Given the description of an element on the screen output the (x, y) to click on. 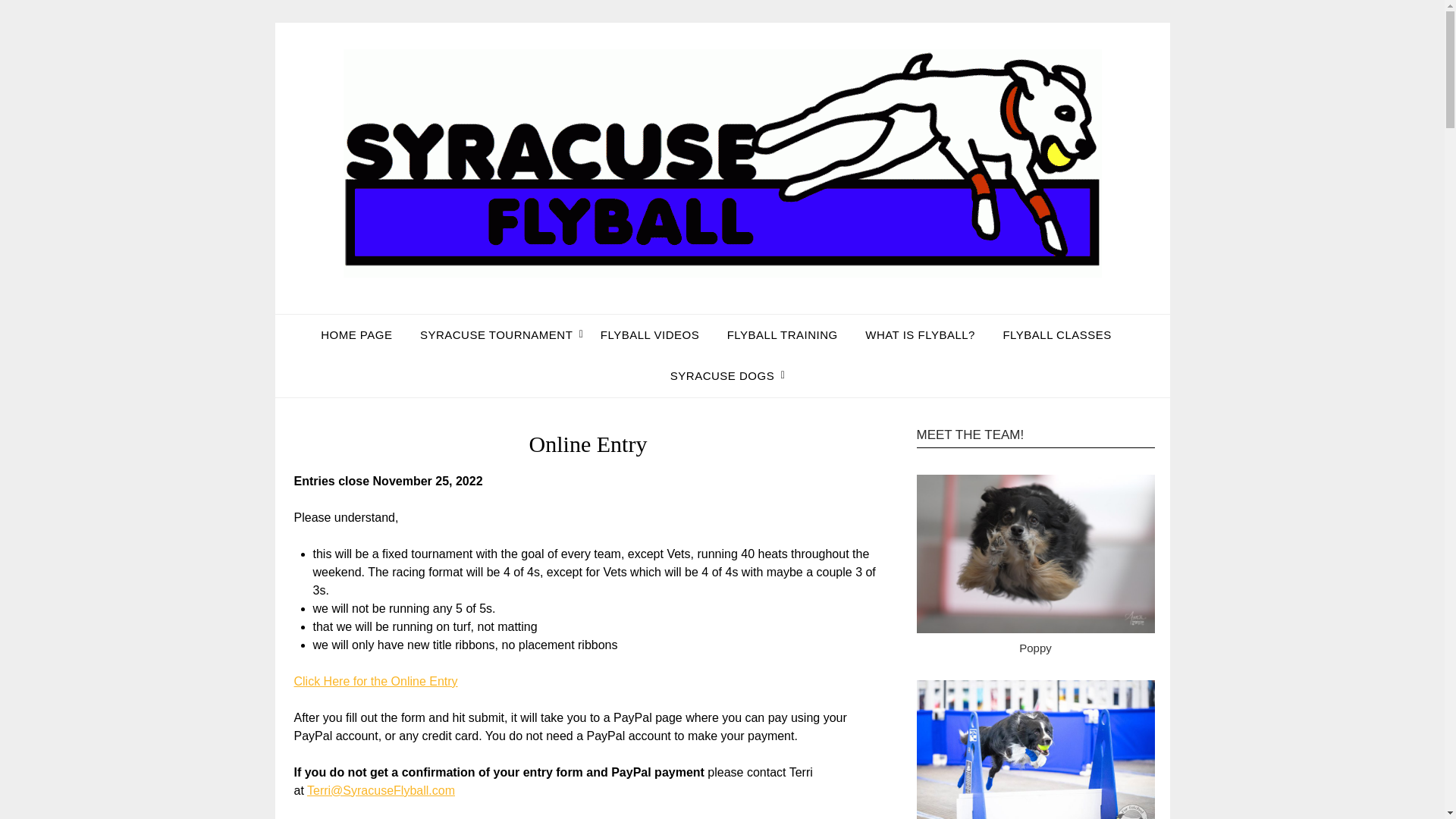
FLYBALL CLASSES (1056, 334)
HOME PAGE (362, 334)
FLYBALL TRAINING (782, 334)
FLYBALL VIDEOS (649, 334)
WHAT IS FLYBALL? (920, 334)
SYRACUSE TOURNAMENT (496, 334)
Click Here for the Online Entry (376, 680)
SYRACUSE DOGS (722, 375)
